Given the description of an element on the screen output the (x, y) to click on. 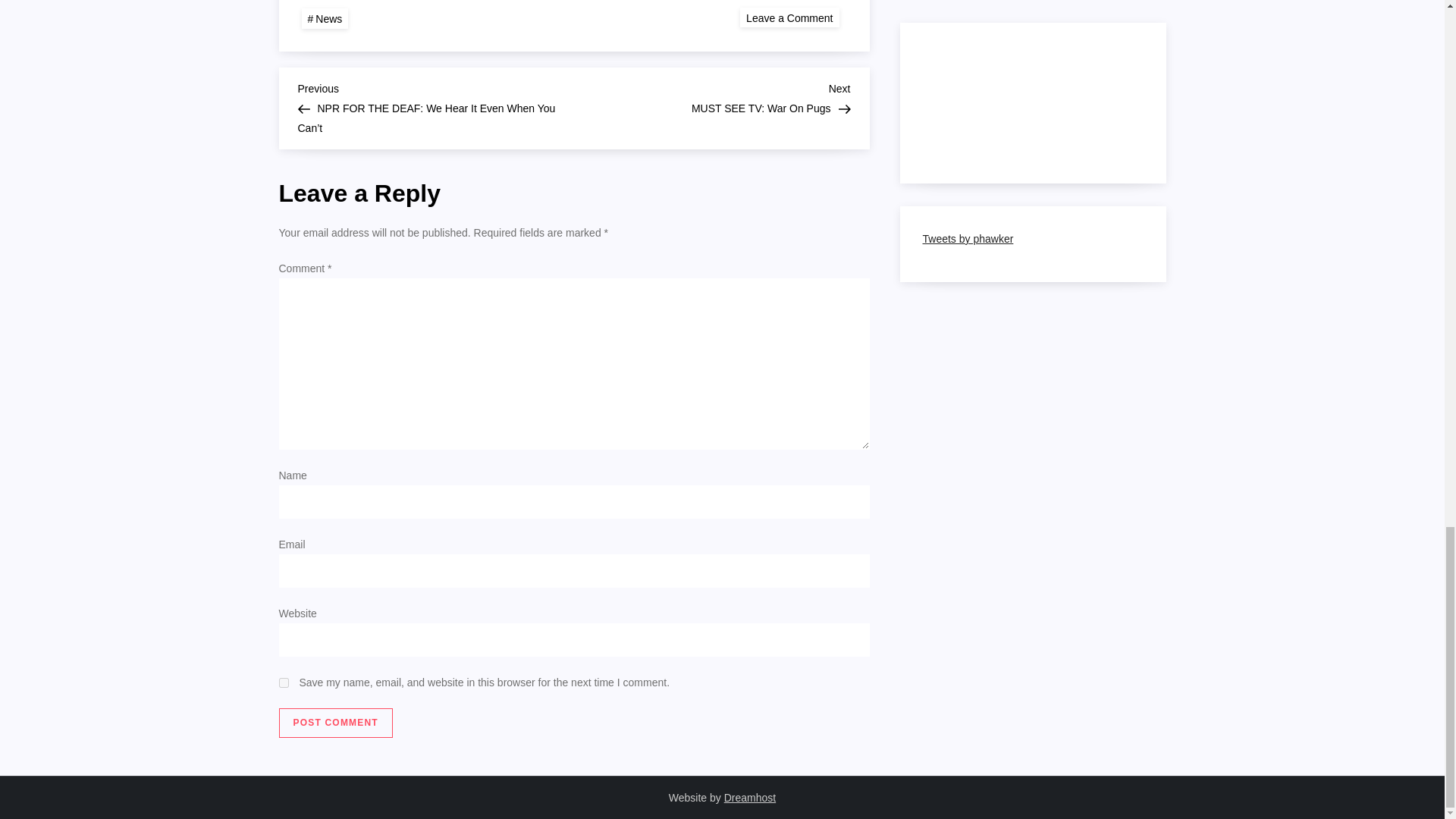
yes (788, 17)
Post Comment (283, 682)
News (336, 723)
Post Comment (325, 18)
Dreamhost (336, 723)
